Given the description of an element on the screen output the (x, y) to click on. 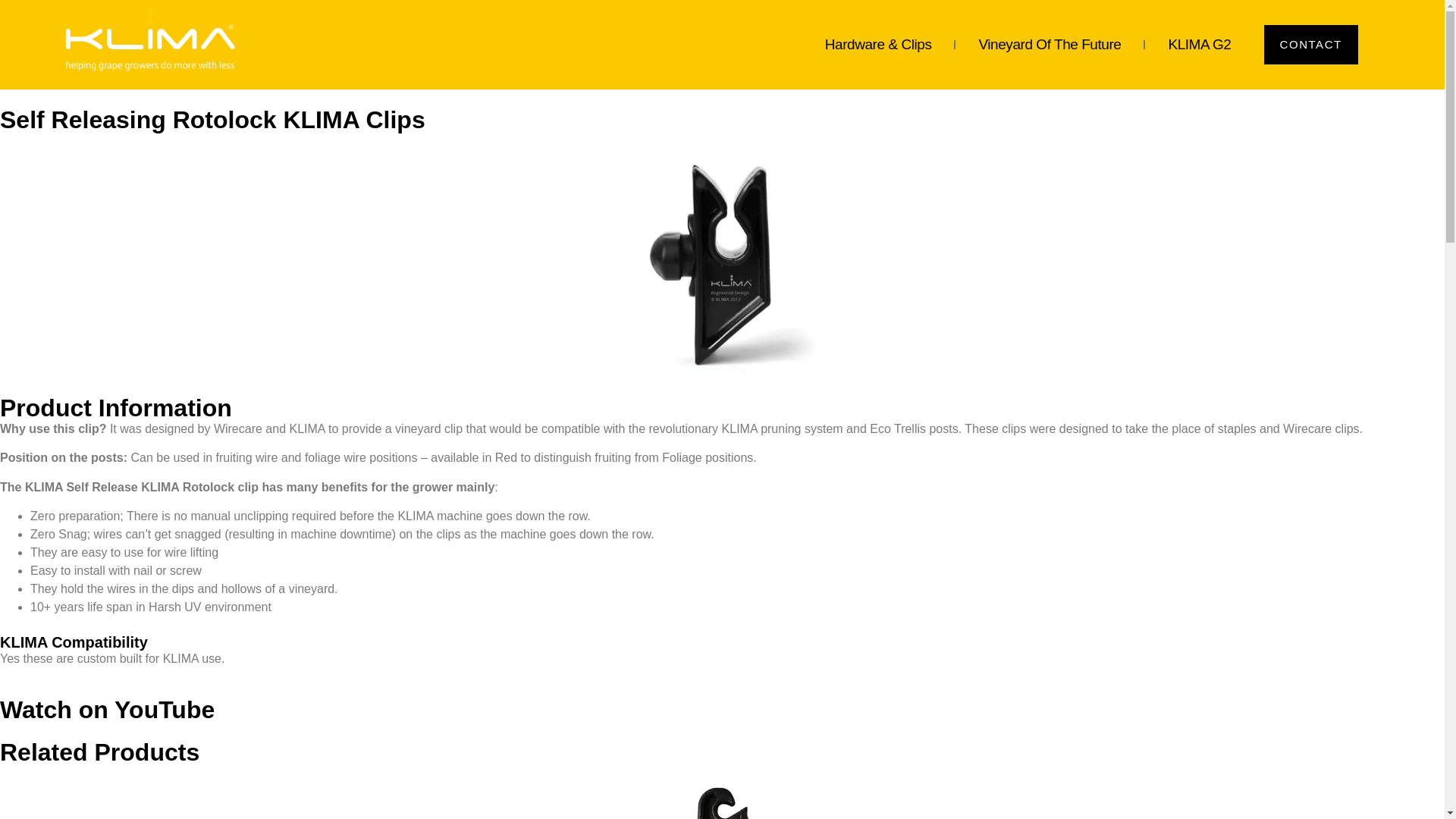
KLIMA G2 (1199, 44)
Vineyard Of The Future (1049, 44)
CONTACT (1310, 44)
